Given the description of an element on the screen output the (x, y) to click on. 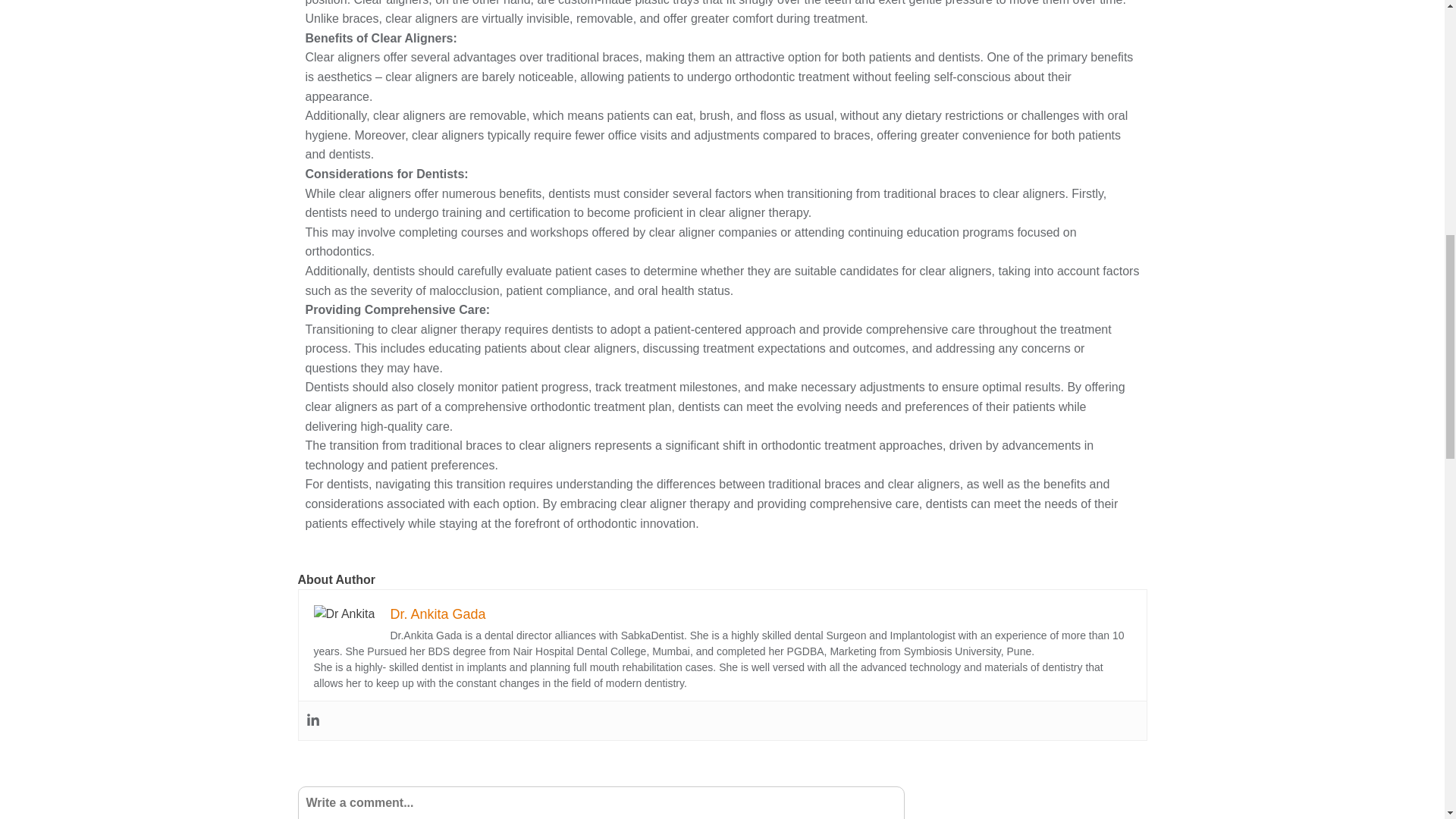
Dr. Ankita Gada (437, 613)
Linkedin (312, 720)
